Given the description of an element on the screen output the (x, y) to click on. 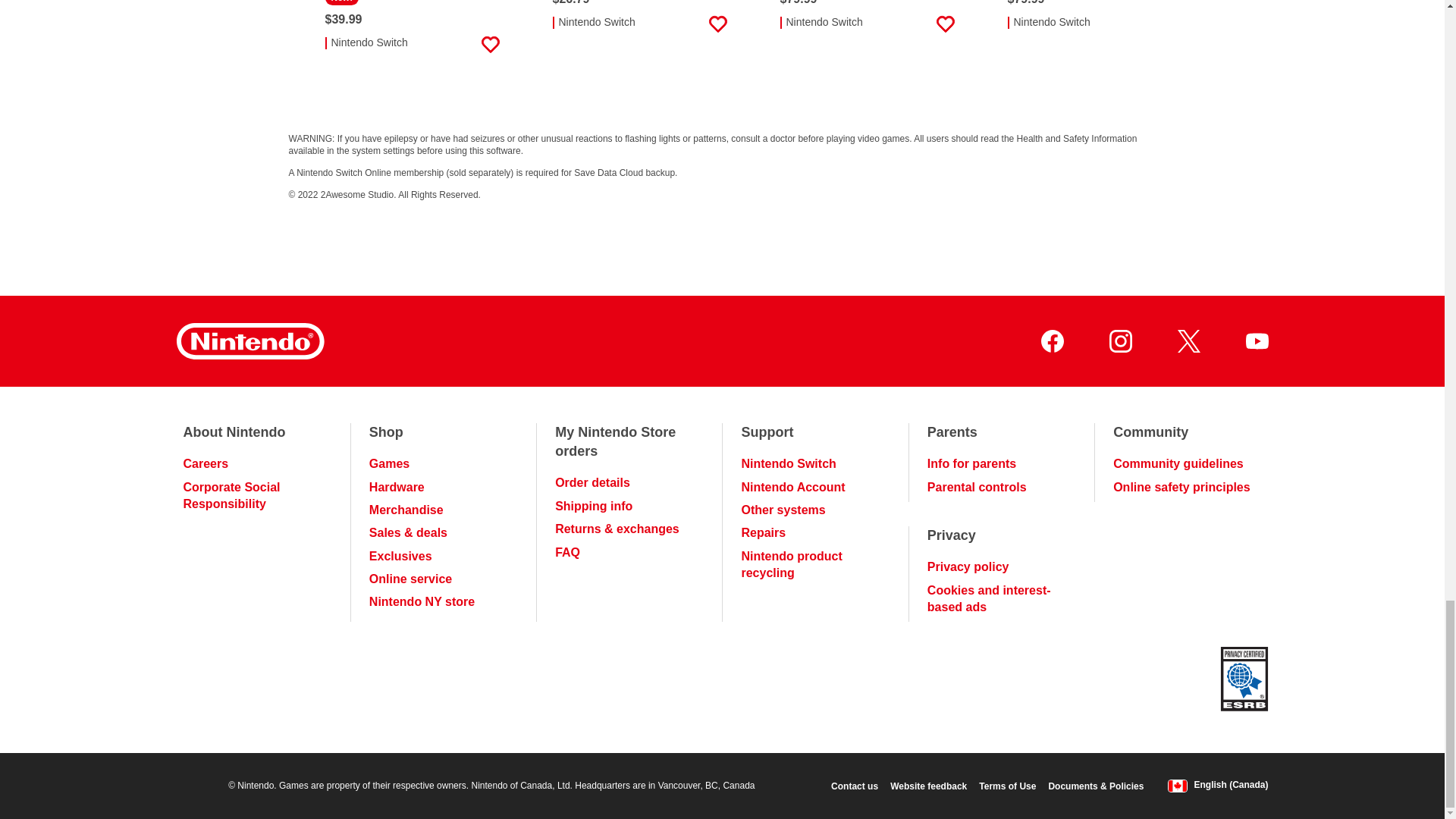
Add to Wish List (1172, 24)
Nintendo on YouTube (1256, 341)
Nintendo Homepage (249, 340)
Add to Wish List (489, 44)
Nintendo on Facebook (1051, 341)
Nintendo on Instagram (1119, 341)
Nintendo on Twitter (1187, 341)
ESRB Privacy Certified (1244, 681)
Add to Wish List (944, 24)
Add to Wish List (716, 24)
